Given the description of an element on the screen output the (x, y) to click on. 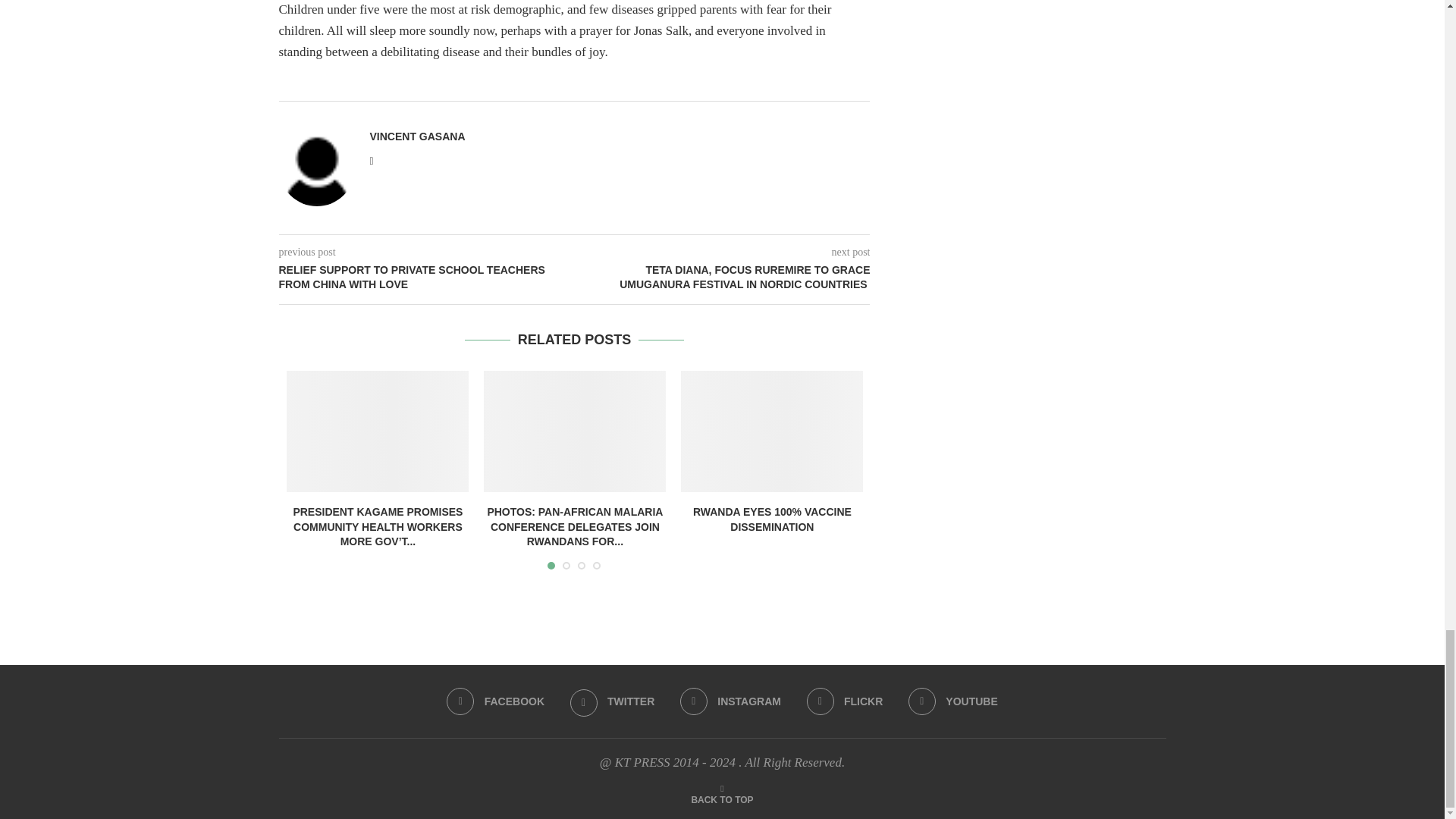
Author Vincent Gasana (417, 136)
VINCENT GASANA (417, 136)
